Given the description of an element on the screen output the (x, y) to click on. 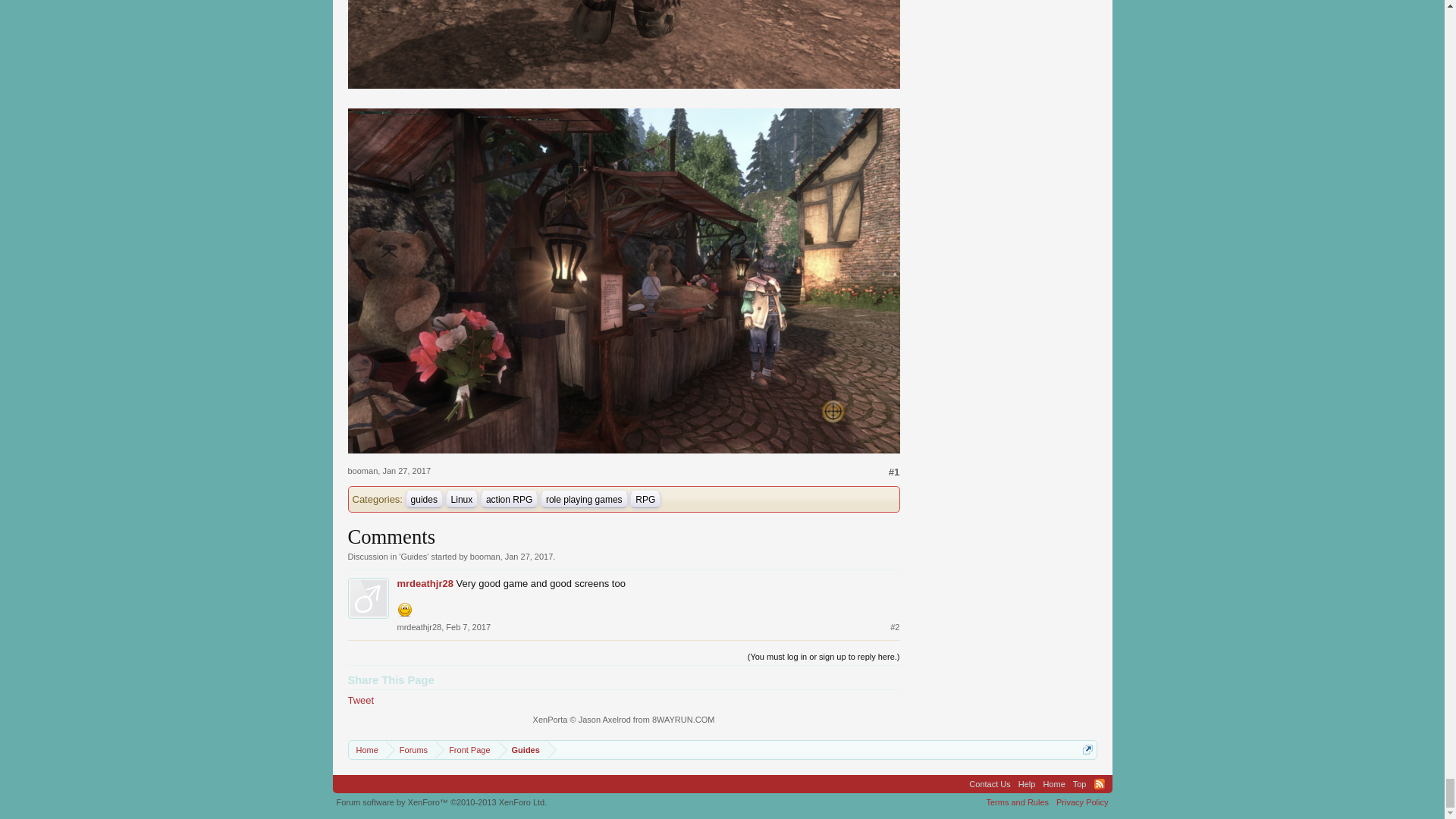
mrdeathjr28 (424, 583)
role playing games (583, 498)
Permalink (893, 472)
Permalink (405, 470)
Jan 27, 2017 at 12:37 PM (529, 556)
action RPG (508, 498)
Feb 7, 2017 (467, 626)
RSS feed for GamersOnLinux (1098, 783)
Jan 27, 2017 (529, 556)
Open quick navigation (1088, 749)
Jan 27, 2017 (405, 470)
Permalink (894, 626)
booman (485, 556)
RPG (645, 498)
Guides (413, 556)
